Given the description of an element on the screen output the (x, y) to click on. 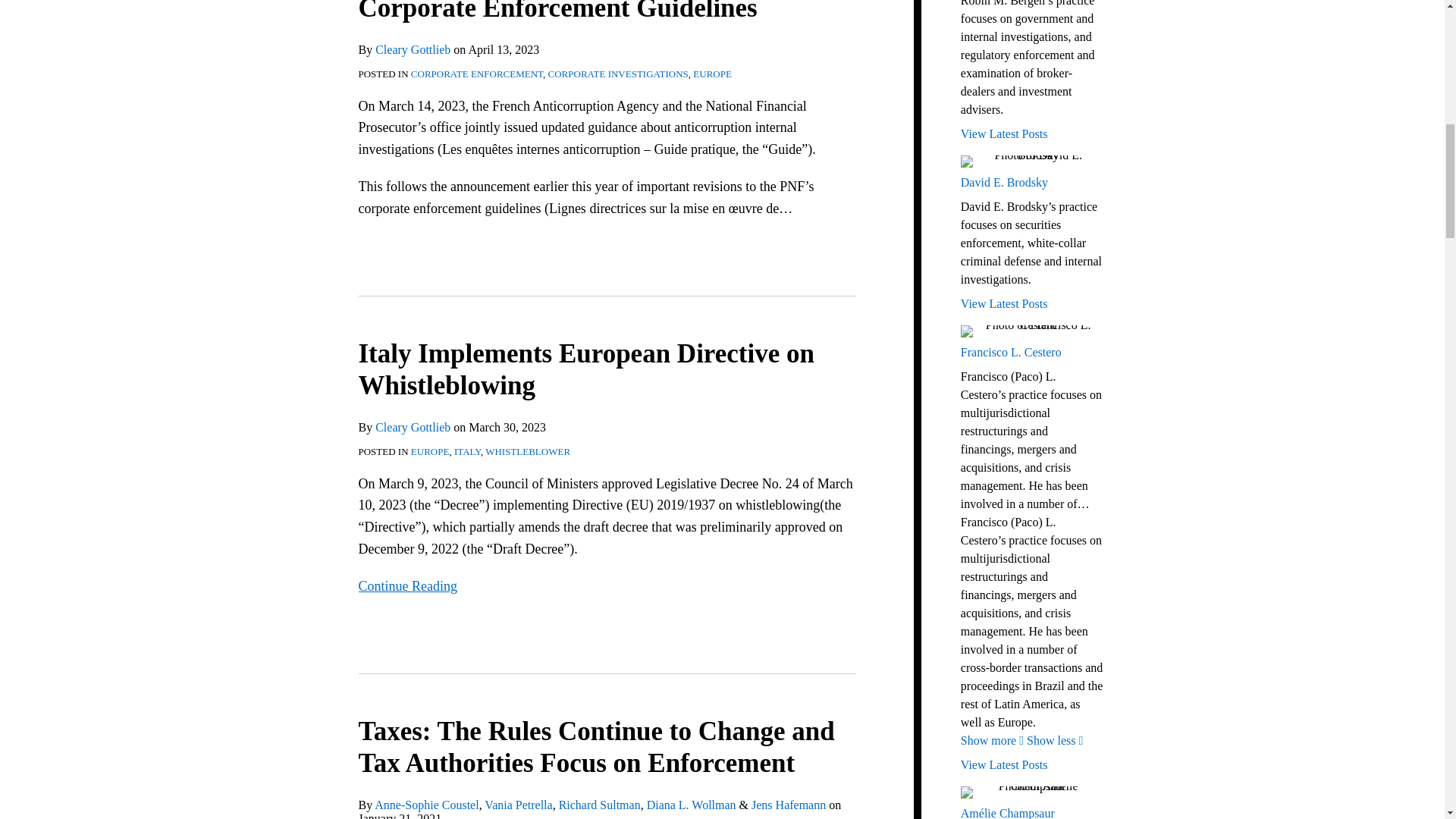
EUROPE (429, 451)
Anne-Sophie Coustel (426, 804)
Richard Sultman (599, 804)
WHISTLEBLOWER (527, 451)
CORPORATE ENFORCEMENT (476, 73)
Jens Hafemann (788, 804)
Cleary Gottlieb (412, 427)
CORPORATE INVESTIGATIONS (618, 73)
ITALY (467, 451)
Vania Petrella (517, 804)
Diana L. Wollman (691, 804)
Italy Implements European Directive on Whistleblowing (585, 369)
